Given the description of an element on the screen output the (x, y) to click on. 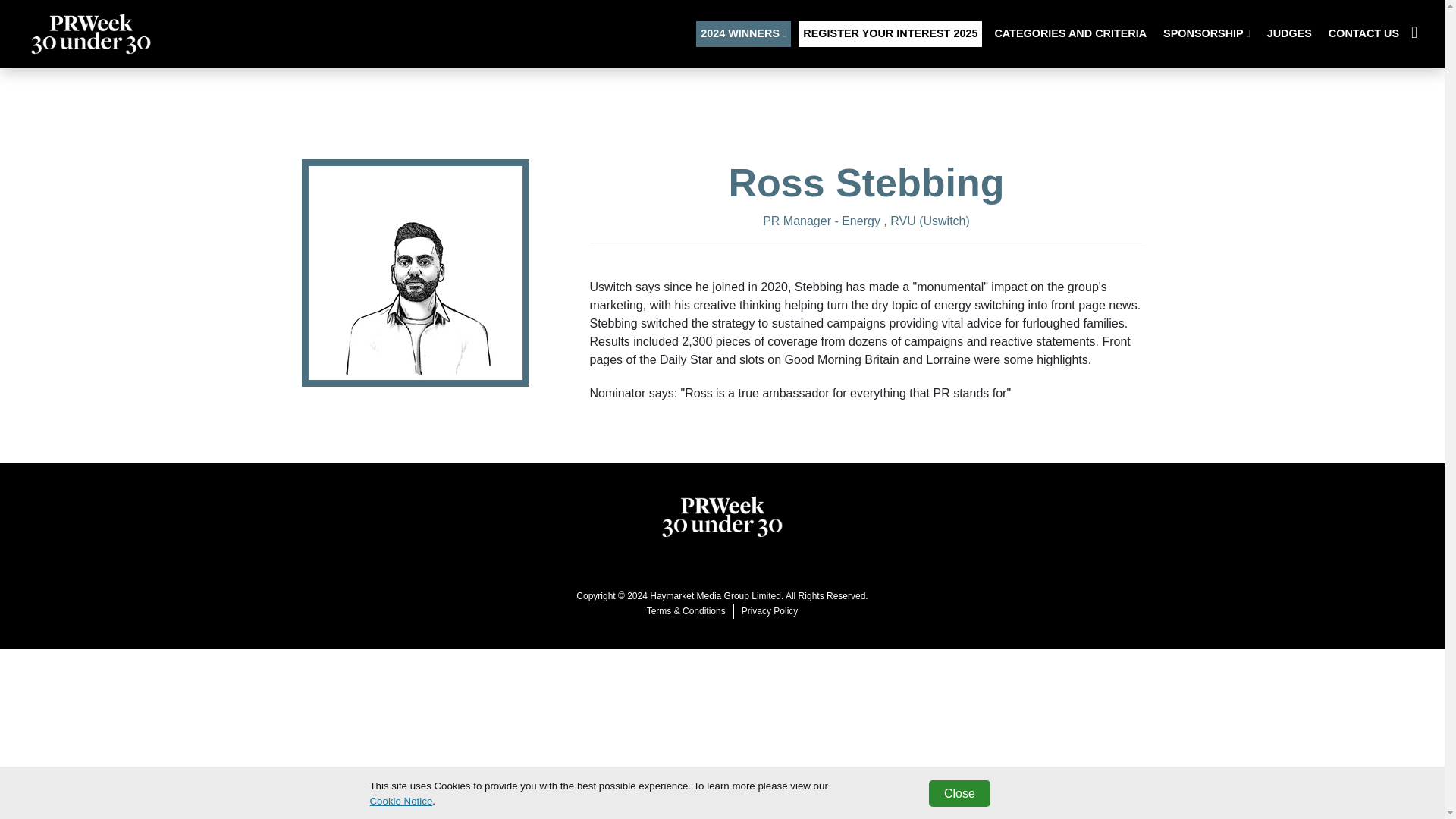
SPONSORSHIP (1206, 33)
REGISTER YOUR INTEREST 2025 (889, 33)
SPONSORSHIP (1206, 33)
Cookie Notice (400, 800)
Privacy Policy (769, 611)
Close (959, 793)
JUDGES (1289, 33)
JUDGES (1289, 33)
2024 WINNERS (742, 33)
CONTACT US (1363, 33)
CATEGORIES AND CRITERIA (1070, 33)
REGISTER YOUR INTEREST 2025 (889, 33)
2024 WINNERS (742, 33)
CONTACT US (1363, 33)
CATEGORIES AND CRITERIA (1070, 33)
